Given the description of an element on the screen output the (x, y) to click on. 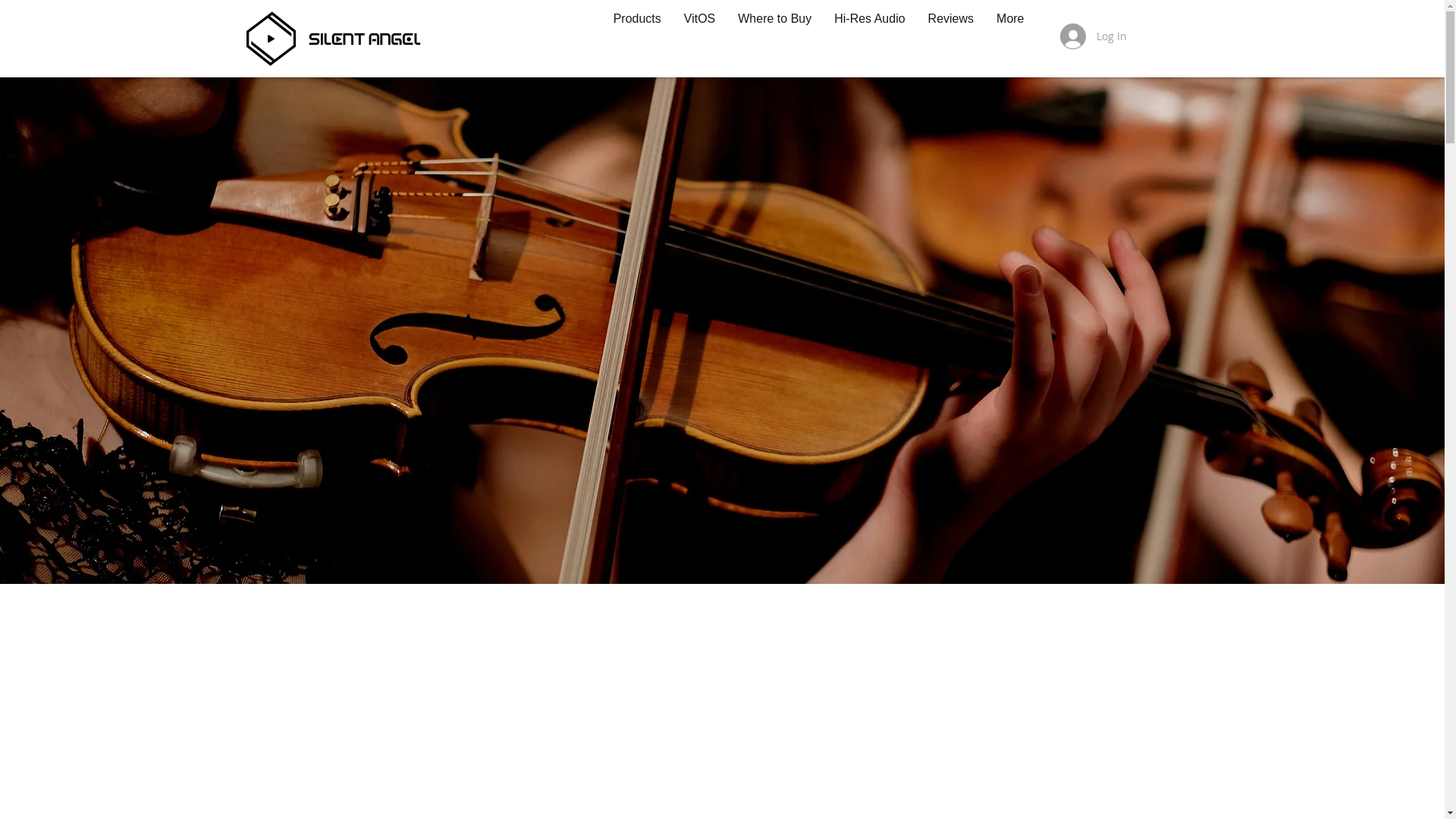
Where to Buy Element type: text (742, 66)
VitOS Element type: text (699, 35)
Products Element type: text (637, 35)
VitOS Element type: text (667, 66)
Where to Buy Element type: text (774, 35)
Reviews Element type: text (950, 35)
Hi-Res Audio Element type: text (869, 35)
Reviews Element type: text (918, 66)
Products Element type: text (605, 66)
Log In Element type: text (1093, 35)
Hi-Res Audio Element type: text (837, 66)
